Given the description of an element on the screen output the (x, y) to click on. 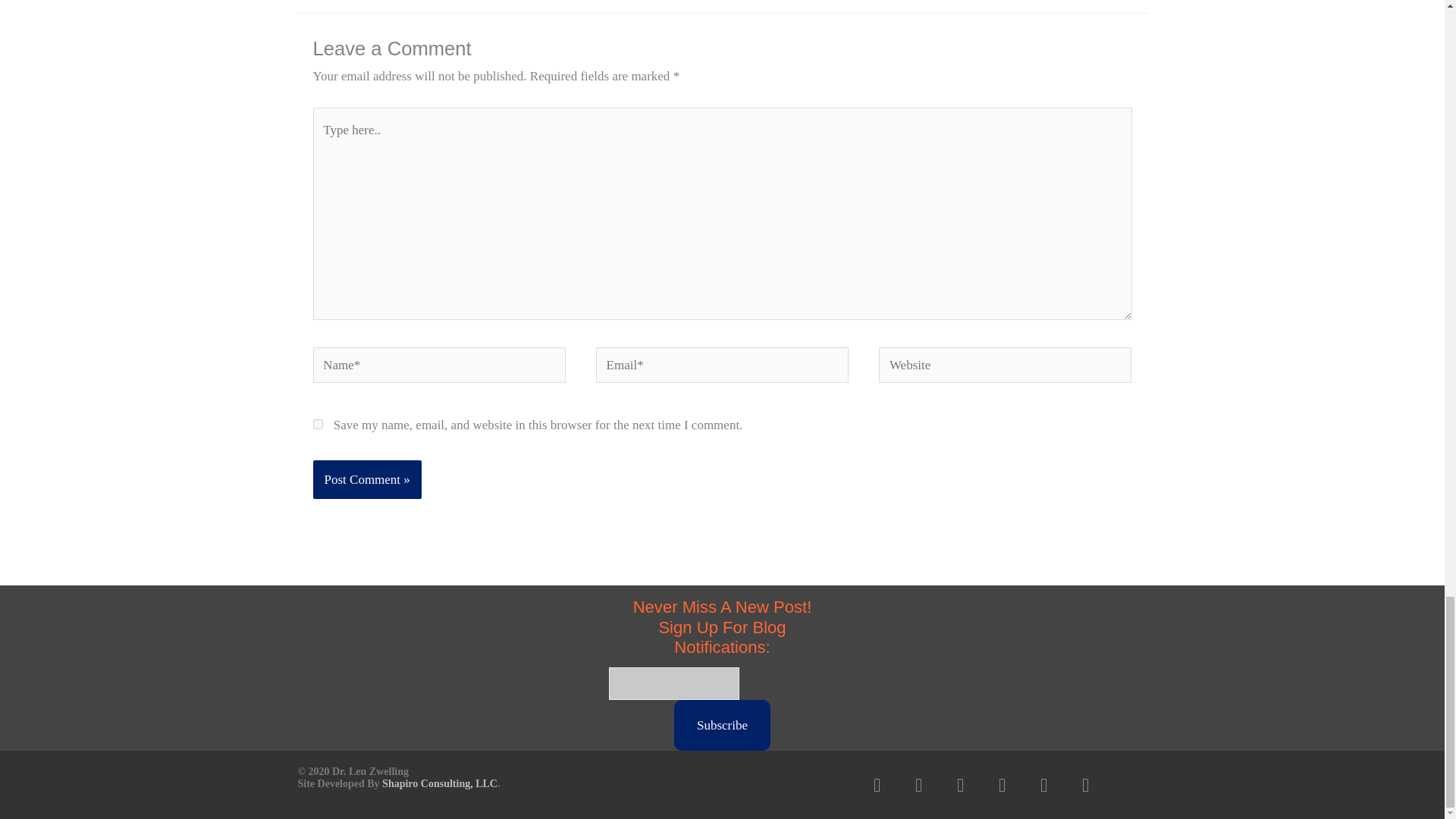
yes (317, 424)
Subscribe (722, 725)
Shapiro Consulting, LLC (439, 783)
Subscribe (722, 725)
